Given the description of an element on the screen output the (x, y) to click on. 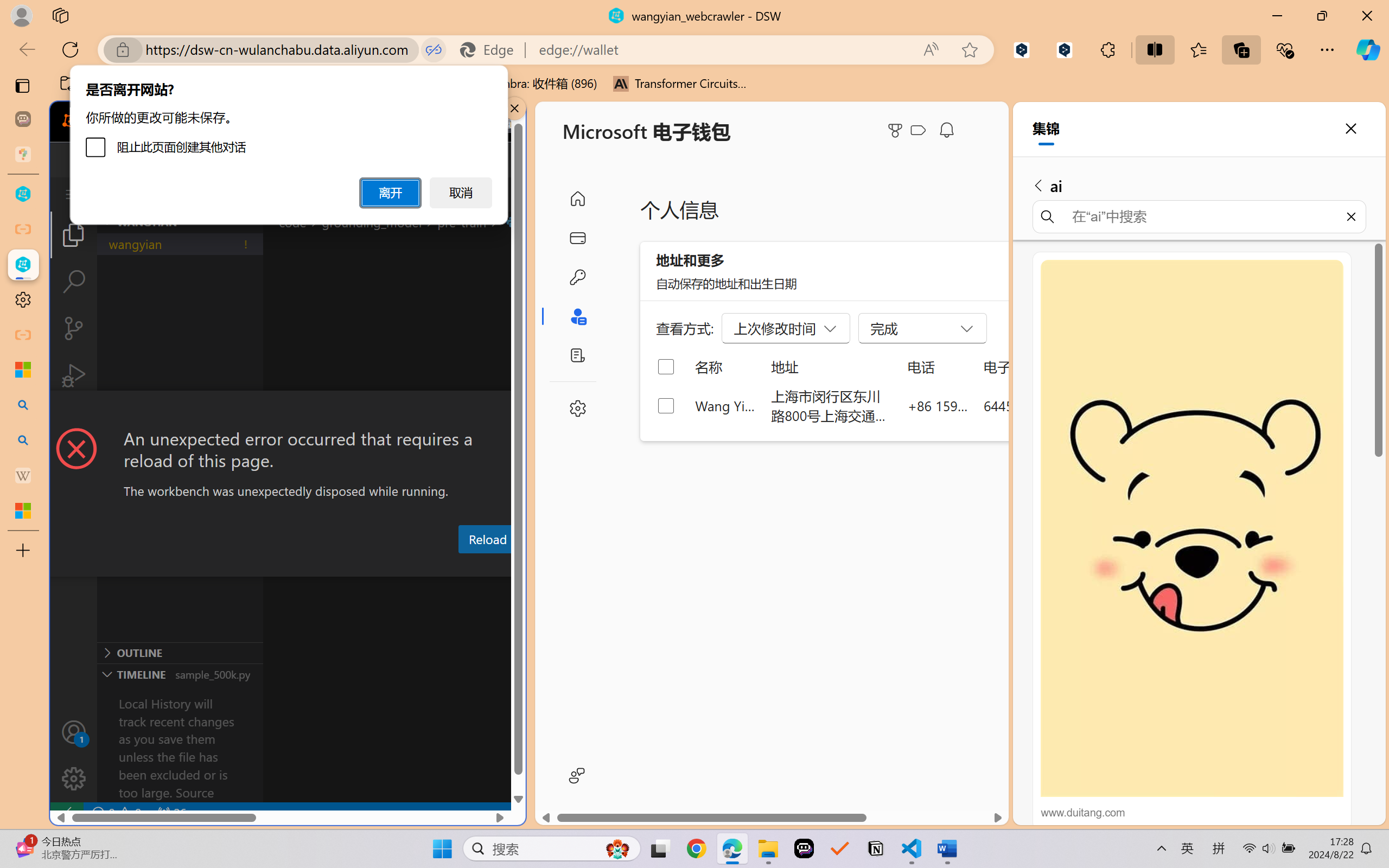
Output (Ctrl+Shift+U) (377, 565)
Microsoft Rewards (896, 129)
remote (66, 812)
